Given the description of an element on the screen output the (x, y) to click on. 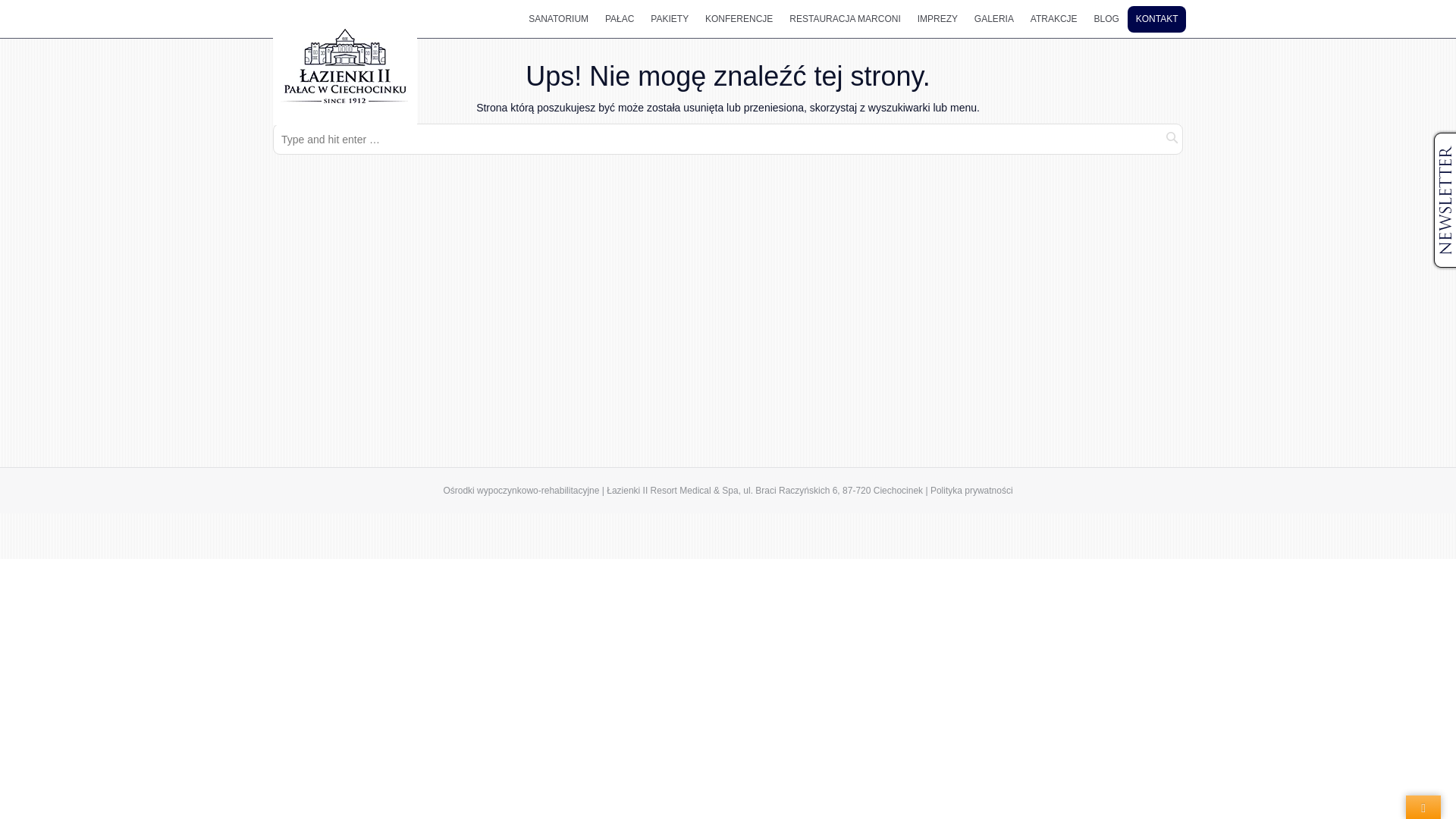
PAKIETY (670, 18)
KONFERENCJE (738, 18)
SANATORIUM (558, 18)
